Given the description of an element on the screen output the (x, y) to click on. 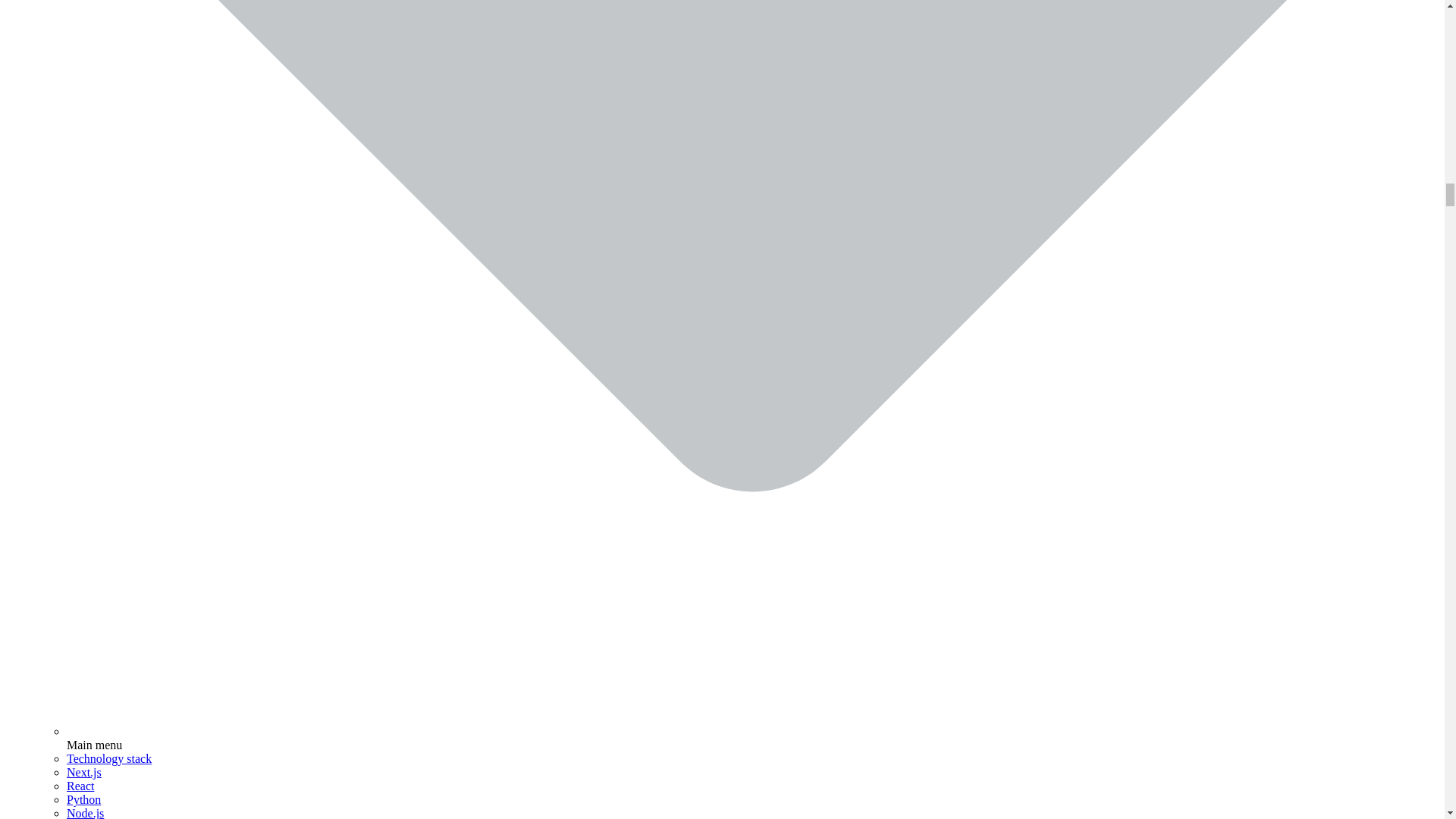
Technology stack (108, 758)
Python (83, 799)
React (80, 785)
Node.js (84, 812)
Next.js (83, 771)
